Given the description of an element on the screen output the (x, y) to click on. 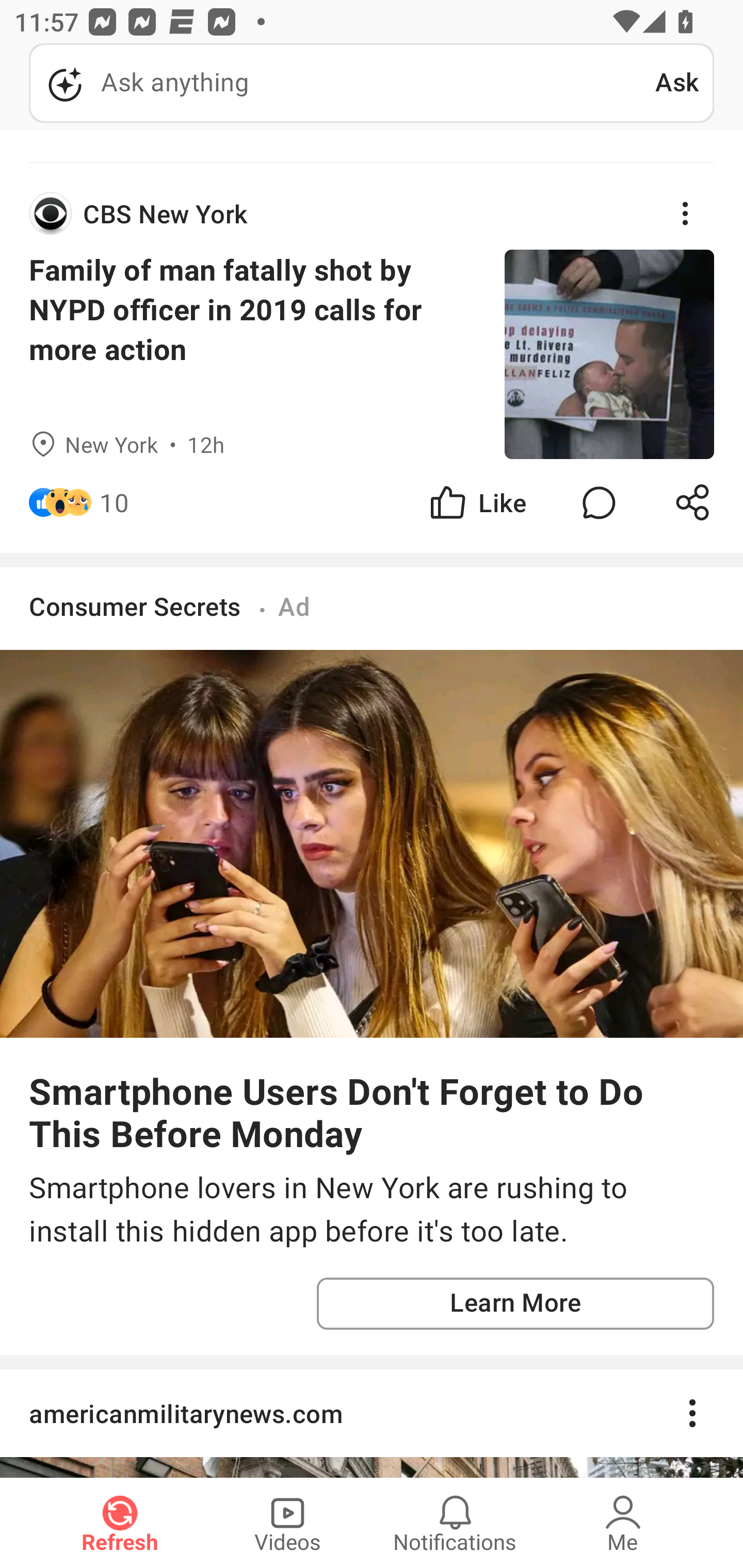
Ask anything (341, 82)
10 (114, 502)
Like (476, 502)
Consumer Secrets  (137, 605)
Learn More (515, 1303)
americanmilitarynews.com (371, 1412)
Videos (287, 1522)
Notifications (455, 1522)
Me (622, 1522)
